Given the description of an element on the screen output the (x, y) to click on. 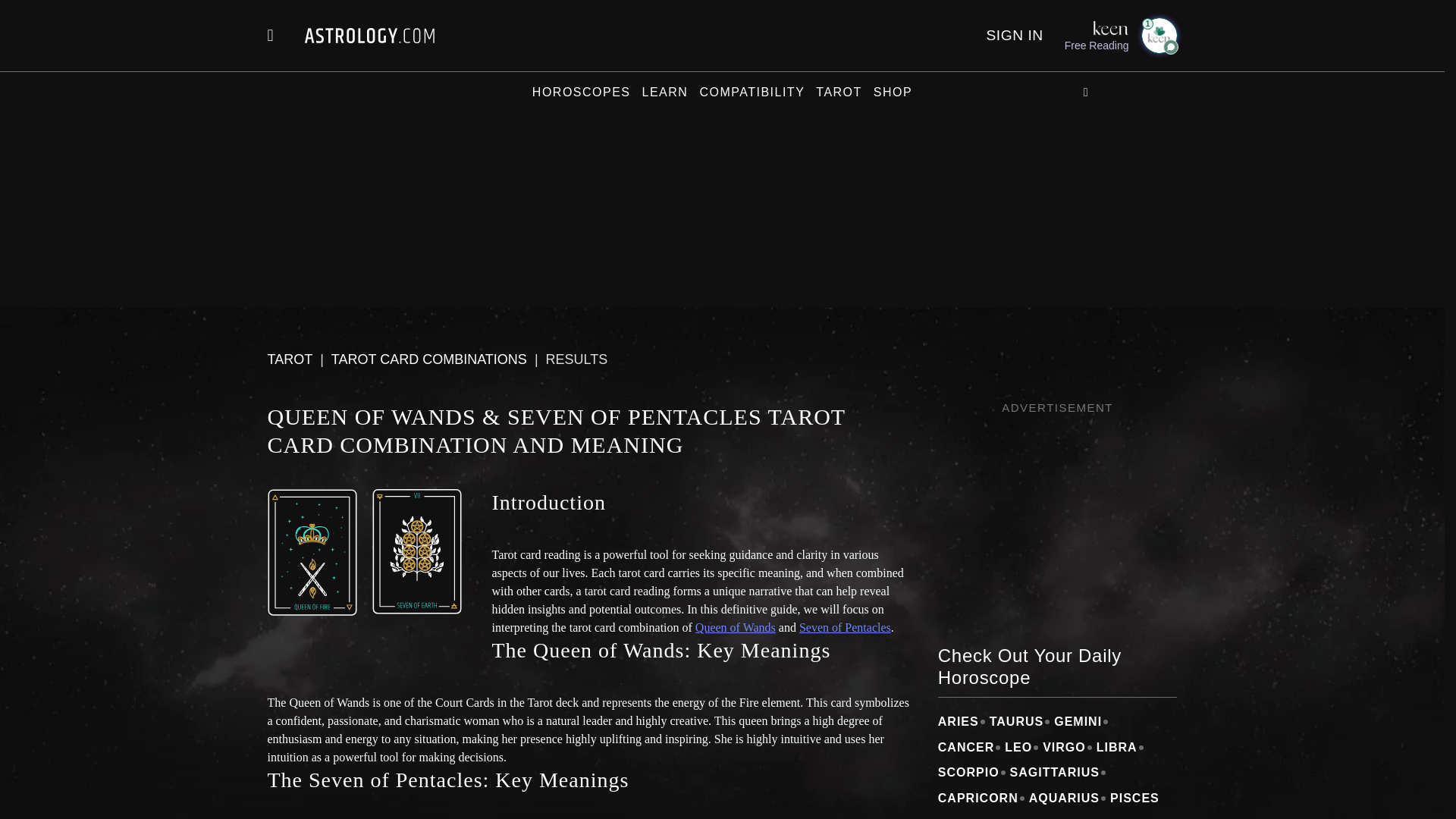
SIGN IN (1013, 35)
1 (1158, 35)
